Given the description of an element on the screen output the (x, y) to click on. 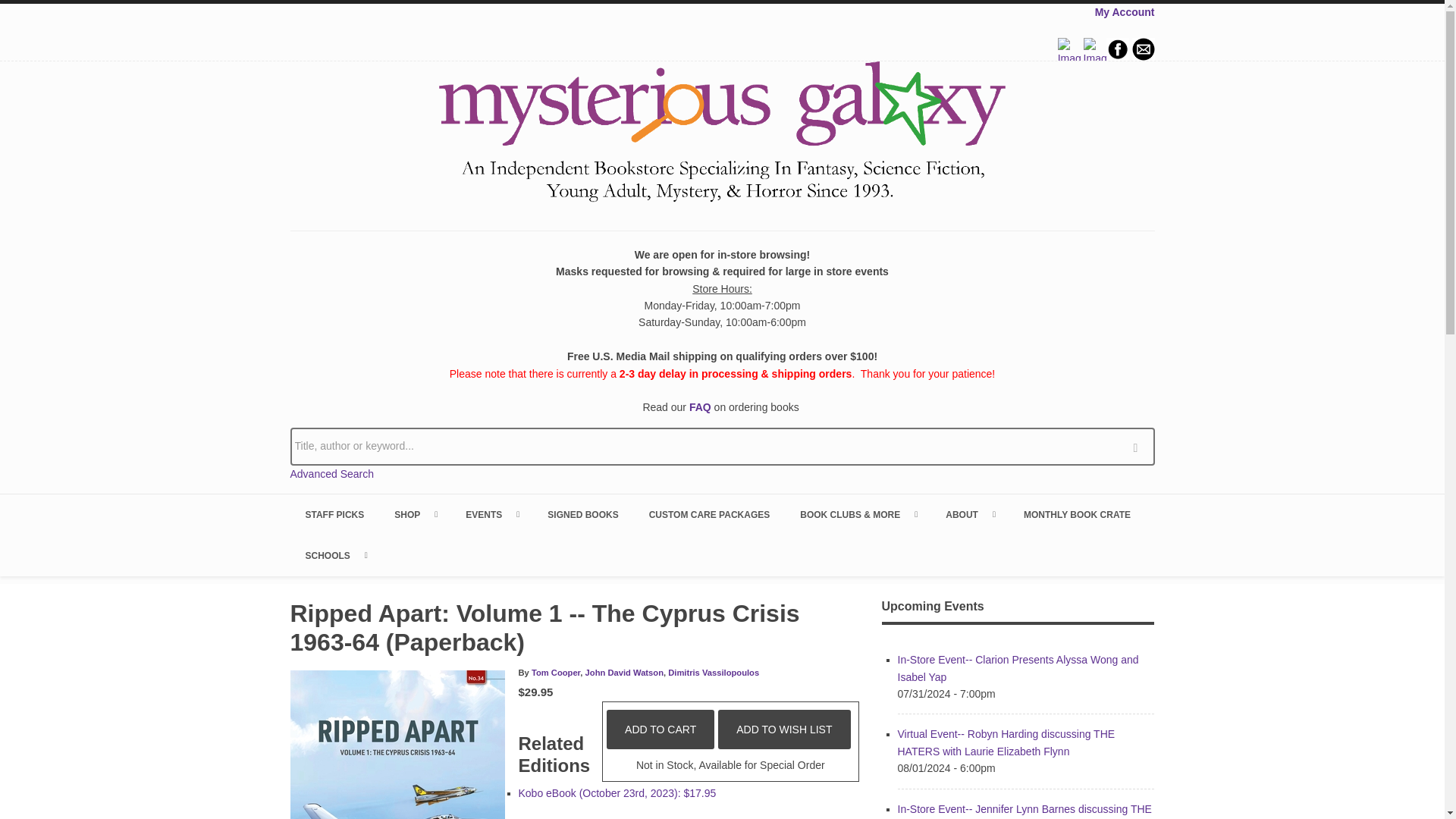
Title, author or keyword... (721, 446)
search (1139, 446)
Advanced Search (331, 473)
Home (722, 134)
Add to Wish List (783, 729)
EVENTS (490, 514)
search (1139, 446)
STAFF PICKS (333, 514)
FAQ (699, 407)
SHOP (413, 514)
Add to Cart (660, 729)
My Account (1124, 11)
